Given the description of an element on the screen output the (x, y) to click on. 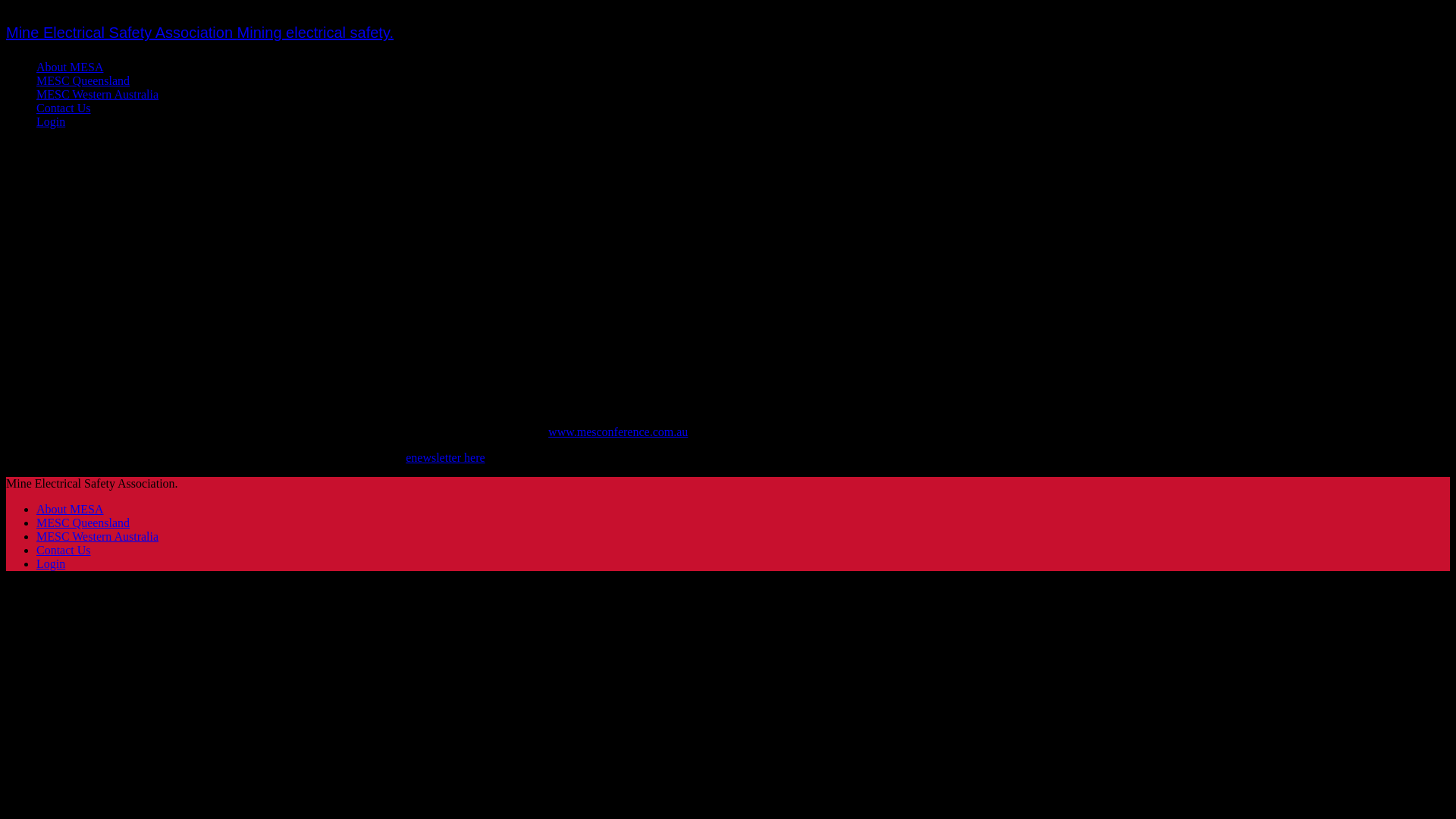
About MESA Element type: text (69, 508)
Contact Us Element type: text (63, 107)
MESC Queensland Element type: text (82, 80)
MESC Queensland Element type: text (82, 522)
Login Element type: text (50, 121)
MESC Western Australia Element type: text (97, 536)
www.mesconference.com.au Element type: text (617, 431)
Login Element type: text (50, 563)
MESC Western Australia Element type: text (97, 93)
enewsletter here Element type: text (444, 457)
Contact Us Element type: text (63, 549)
Mine Electrical Safety Association Mining electrical safety. Element type: text (199, 32)
About MESA Element type: text (69, 66)
